Given the description of an element on the screen output the (x, y) to click on. 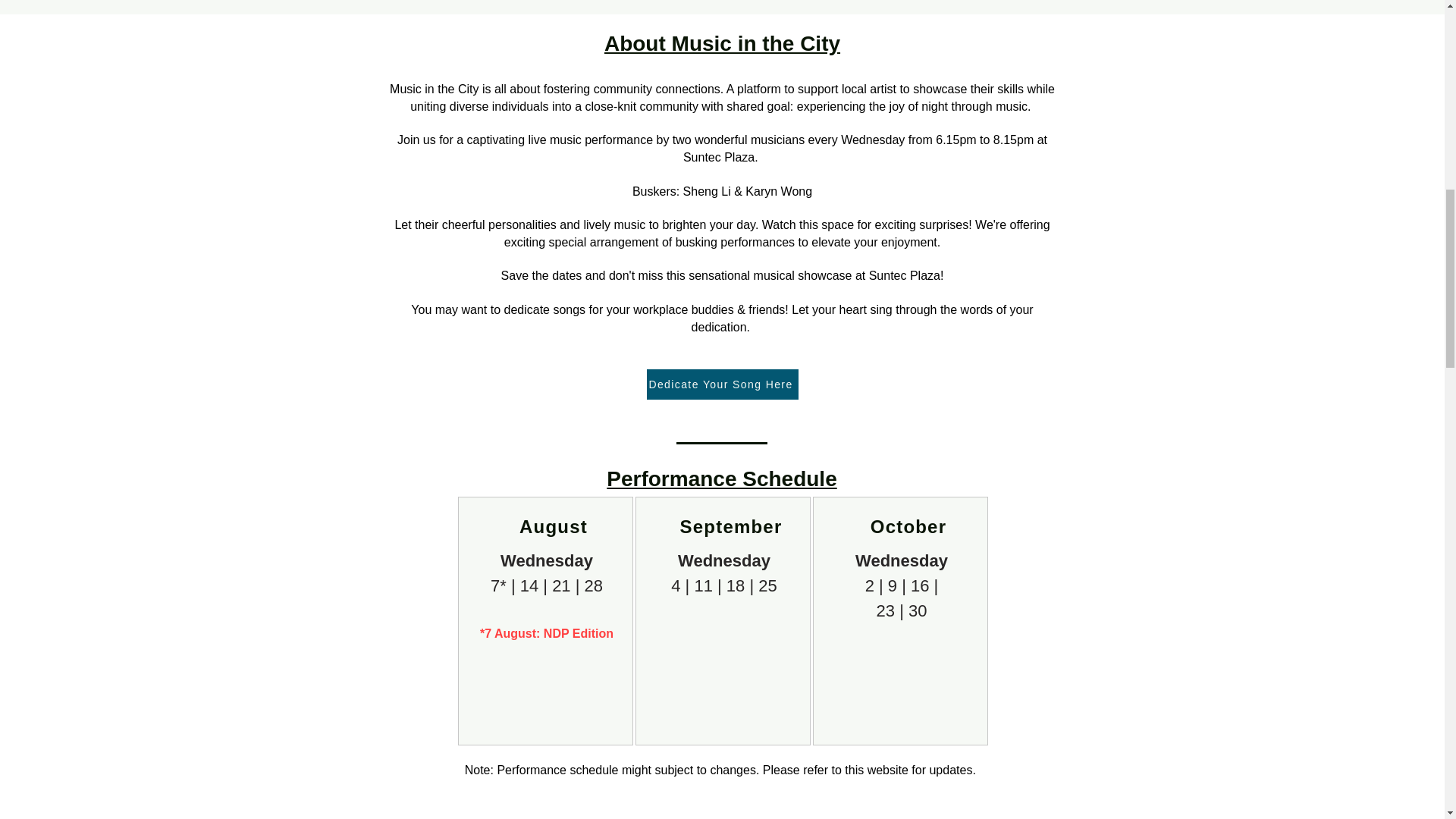
Dedicate Your Song Here (721, 384)
